Given the description of an element on the screen output the (x, y) to click on. 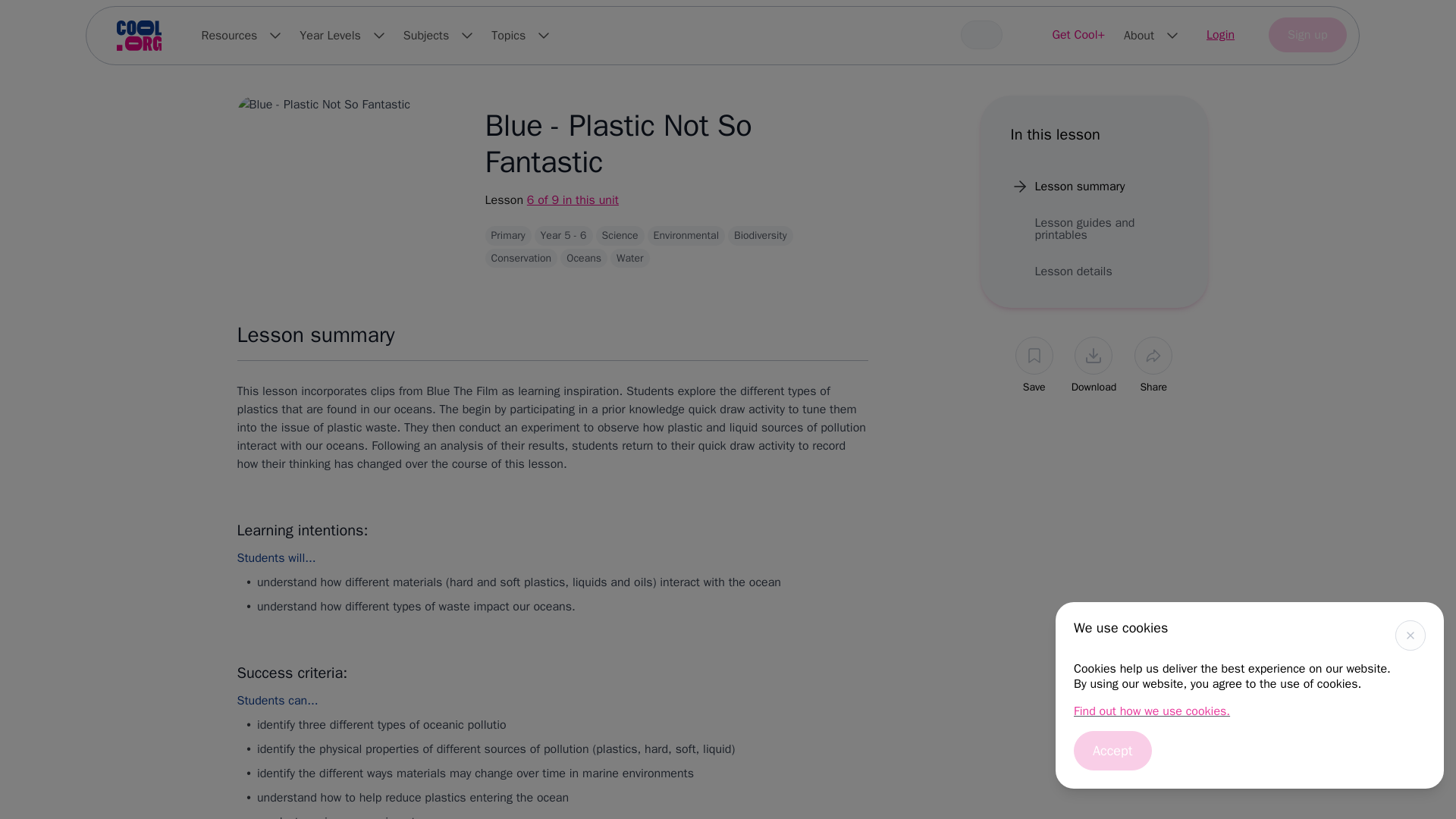
Subjects (438, 35)
Year Levels (342, 35)
Resources (241, 35)
